Given the description of an element on the screen output the (x, y) to click on. 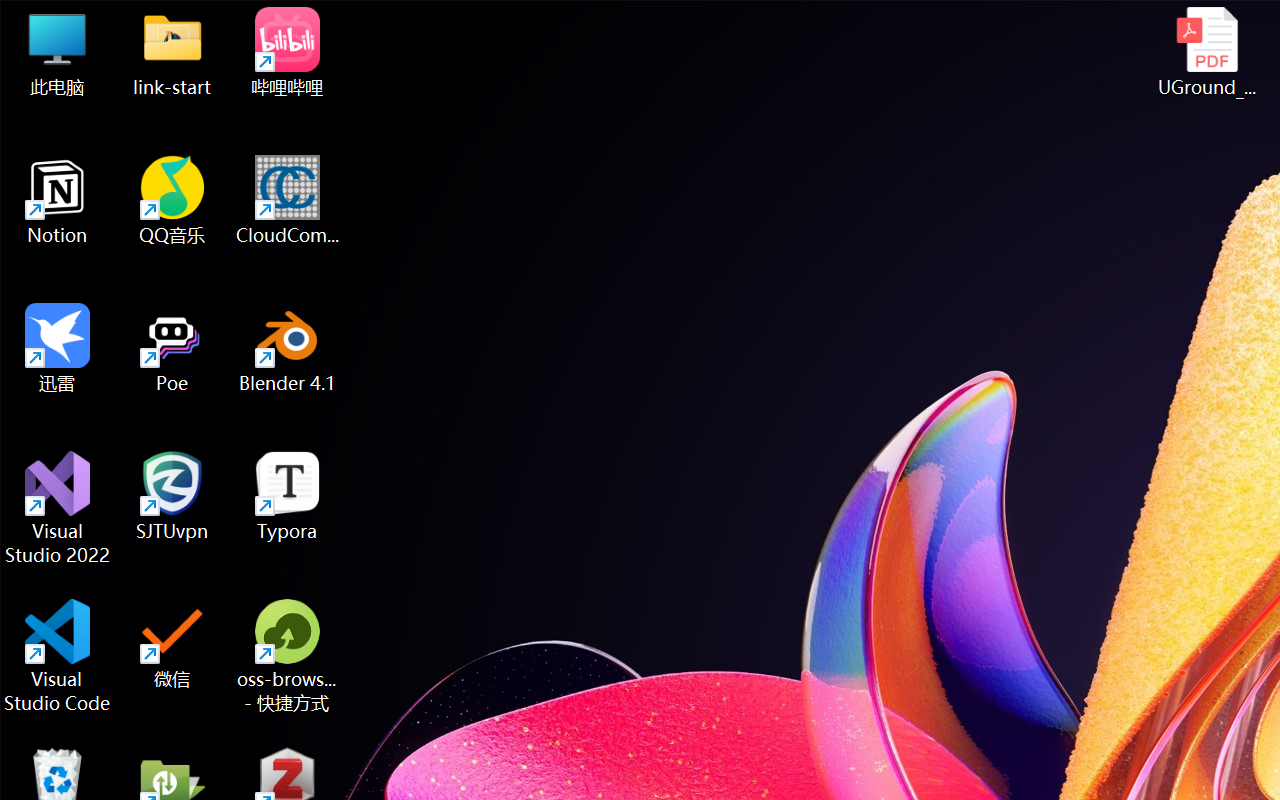
UGround_paper.pdf (1206, 52)
Blender 4.1 (287, 348)
CloudCompare (287, 200)
Visual Studio 2022 (57, 508)
Typora (287, 496)
Visual Studio Code (57, 656)
